Given the description of an element on the screen output the (x, y) to click on. 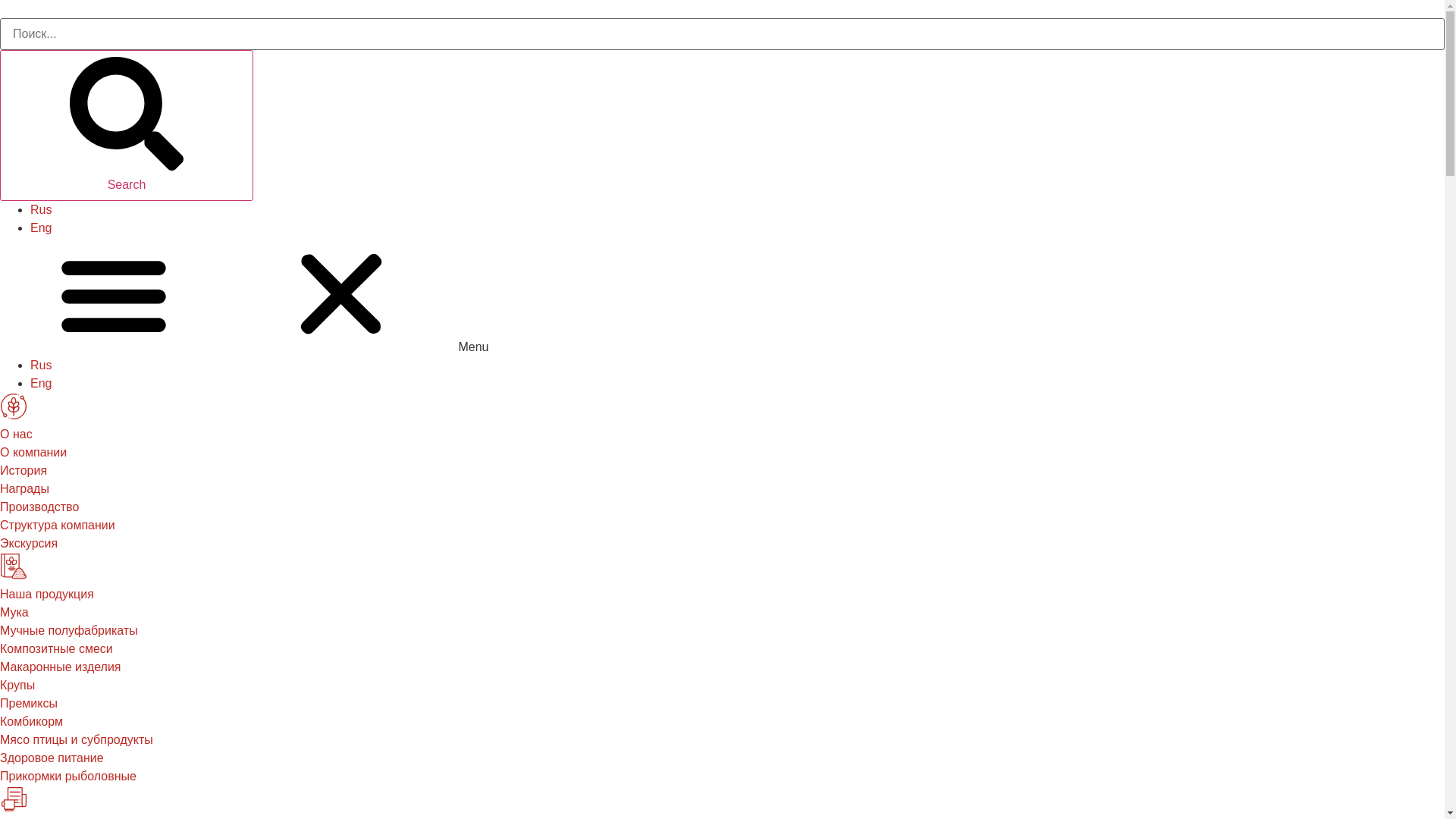
Eng Element type: text (40, 382)
Search Element type: text (126, 125)
Rus Element type: text (40, 209)
Eng Element type: text (40, 227)
Rus Element type: text (40, 364)
Search Element type: hover (722, 34)
